Given the description of an element on the screen output the (x, y) to click on. 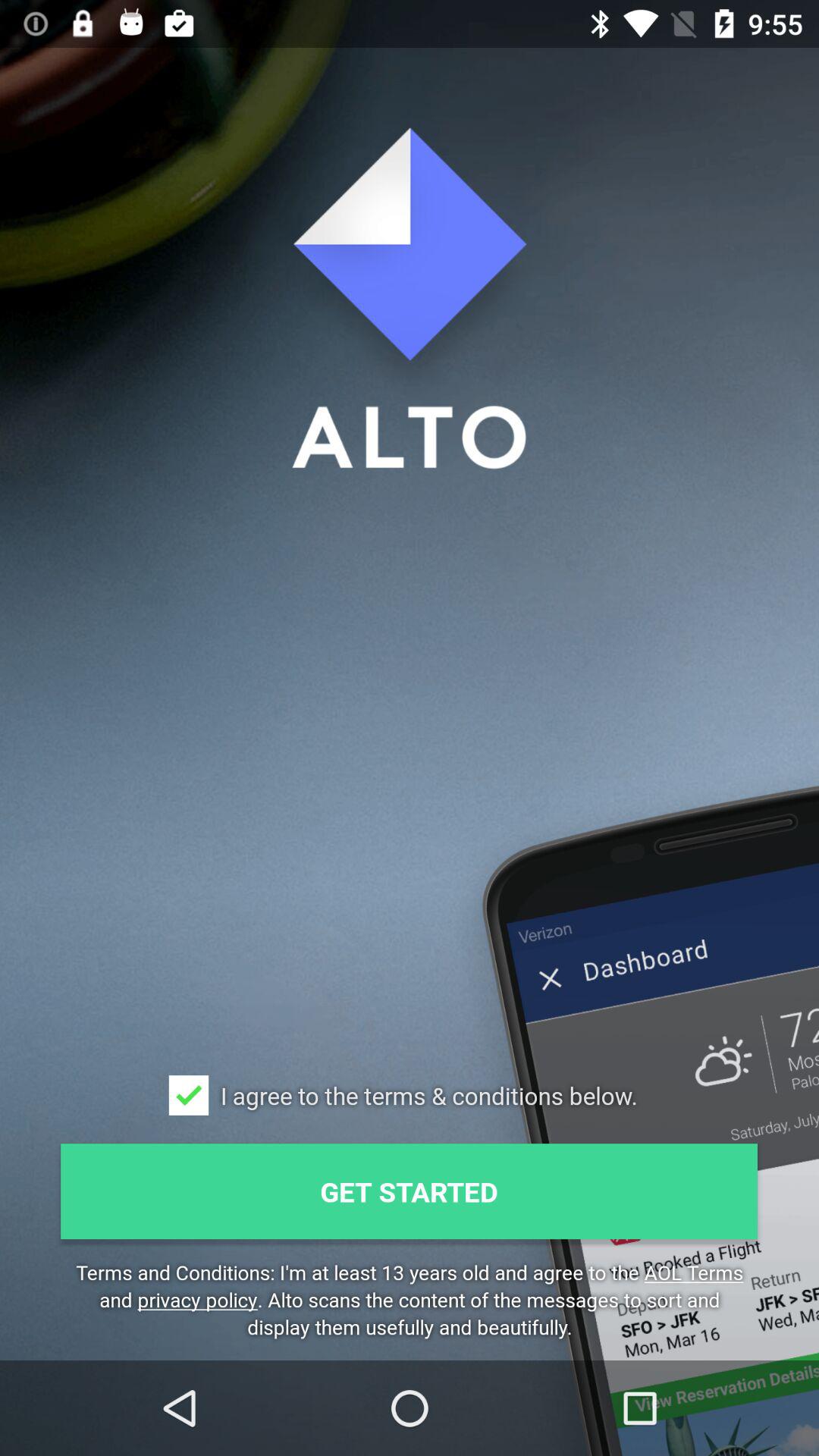
select the icon below i agree to icon (408, 1191)
